Given the description of an element on the screen output the (x, y) to click on. 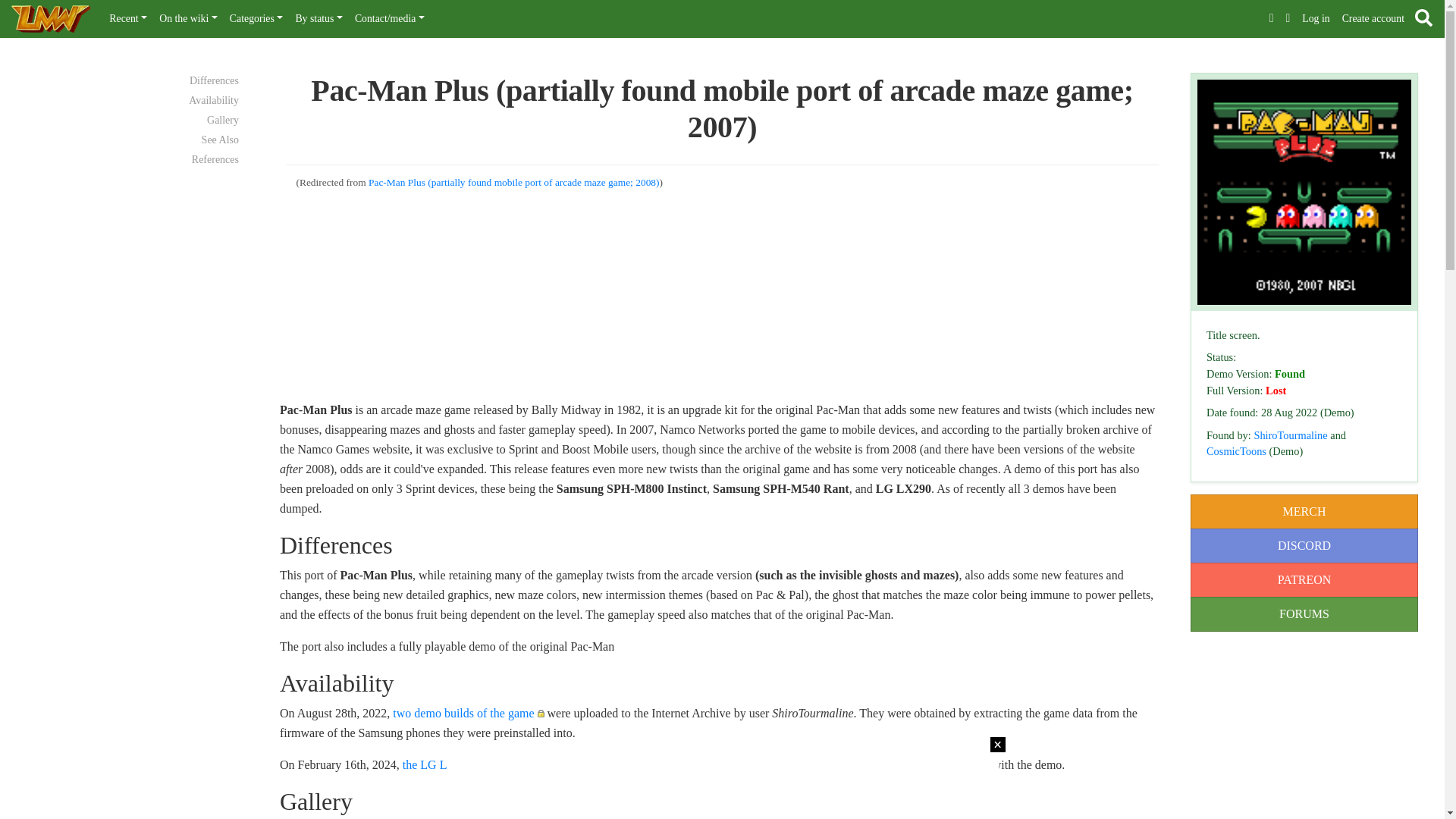
Recent (127, 19)
On the wiki (188, 19)
By status (318, 19)
Categories (256, 19)
